Given the description of an element on the screen output the (x, y) to click on. 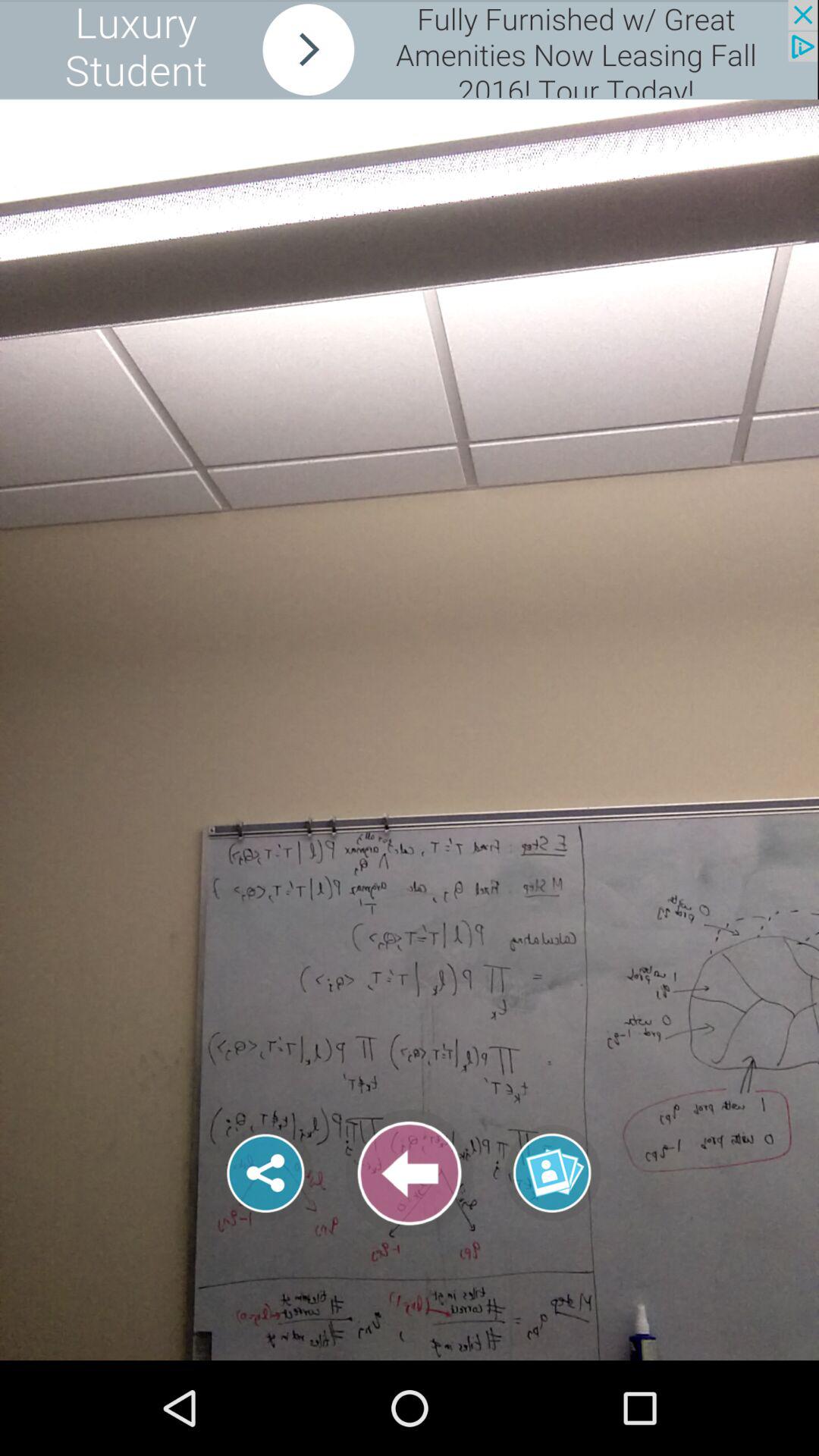
select the advertisement (408, 49)
